Given the description of an element on the screen output the (x, y) to click on. 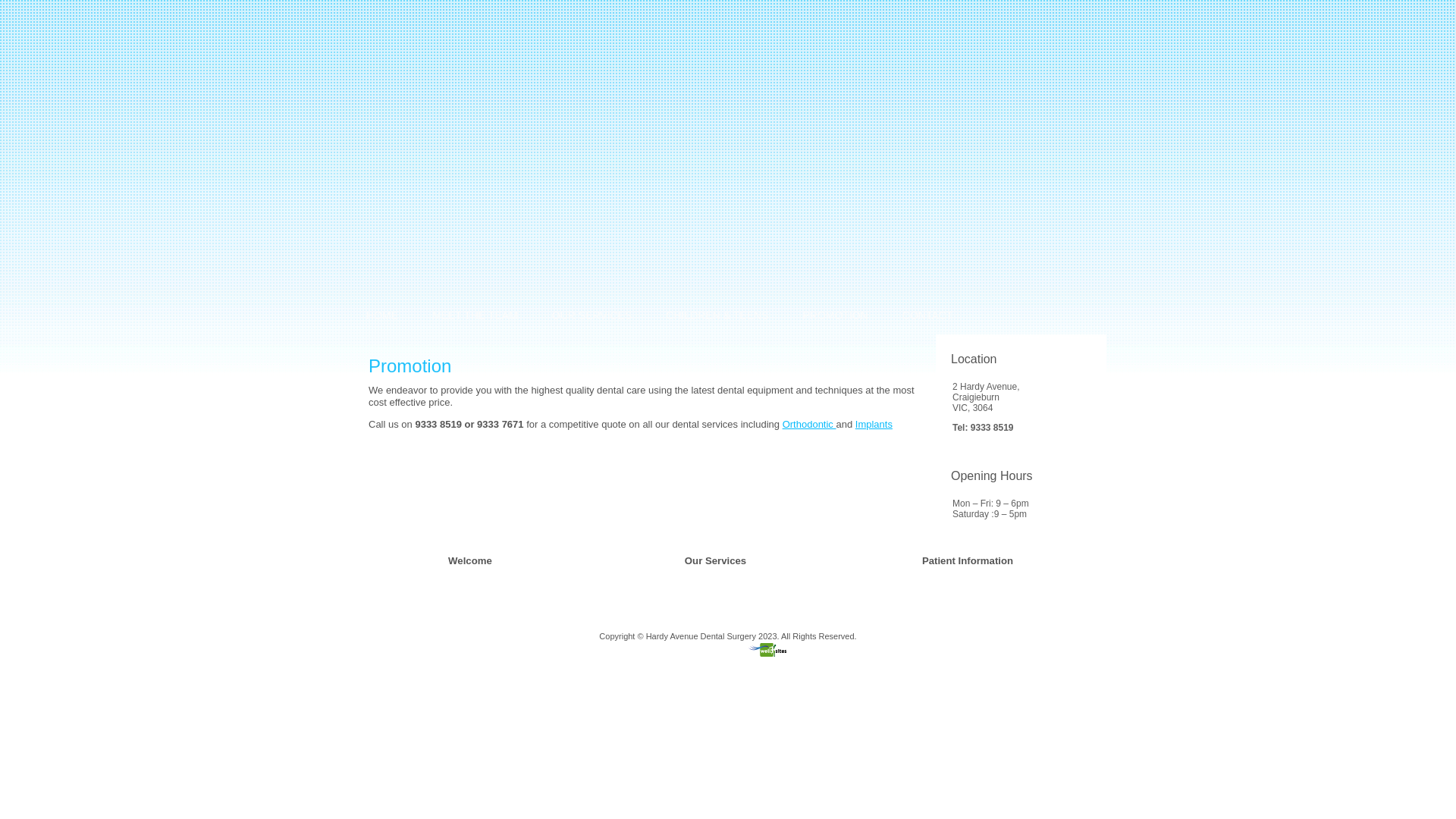
Cosmetic Element type: text (701, 598)
General Element type: text (699, 572)
Home Element type: text (459, 572)
MEET THE TEAM Element type: text (474, 315)
OUR SERVICES Element type: text (592, 315)
Appointment Request Element type: text (488, 598)
Implants Element type: text (873, 423)
Orthodontic Element type: text (809, 423)
Powered by Wellsites Element type: text (728, 653)
Contact Element type: text (936, 572)
Payment Element type: text (938, 598)
How To Find Us Element type: text (951, 585)
WellsitesFooterLogo Element type: hover (767, 649)
Meet The Team Element type: text (476, 585)
Children & Teens Element type: text (716, 610)
Specialised Treatments Element type: text (727, 585)
PROMOTION Element type: text (834, 315)
HOME Element type: text (381, 315)
CONTACT Element type: text (927, 315)
CHILDREN & TEENS Element type: text (716, 315)
